Given the description of an element on the screen output the (x, y) to click on. 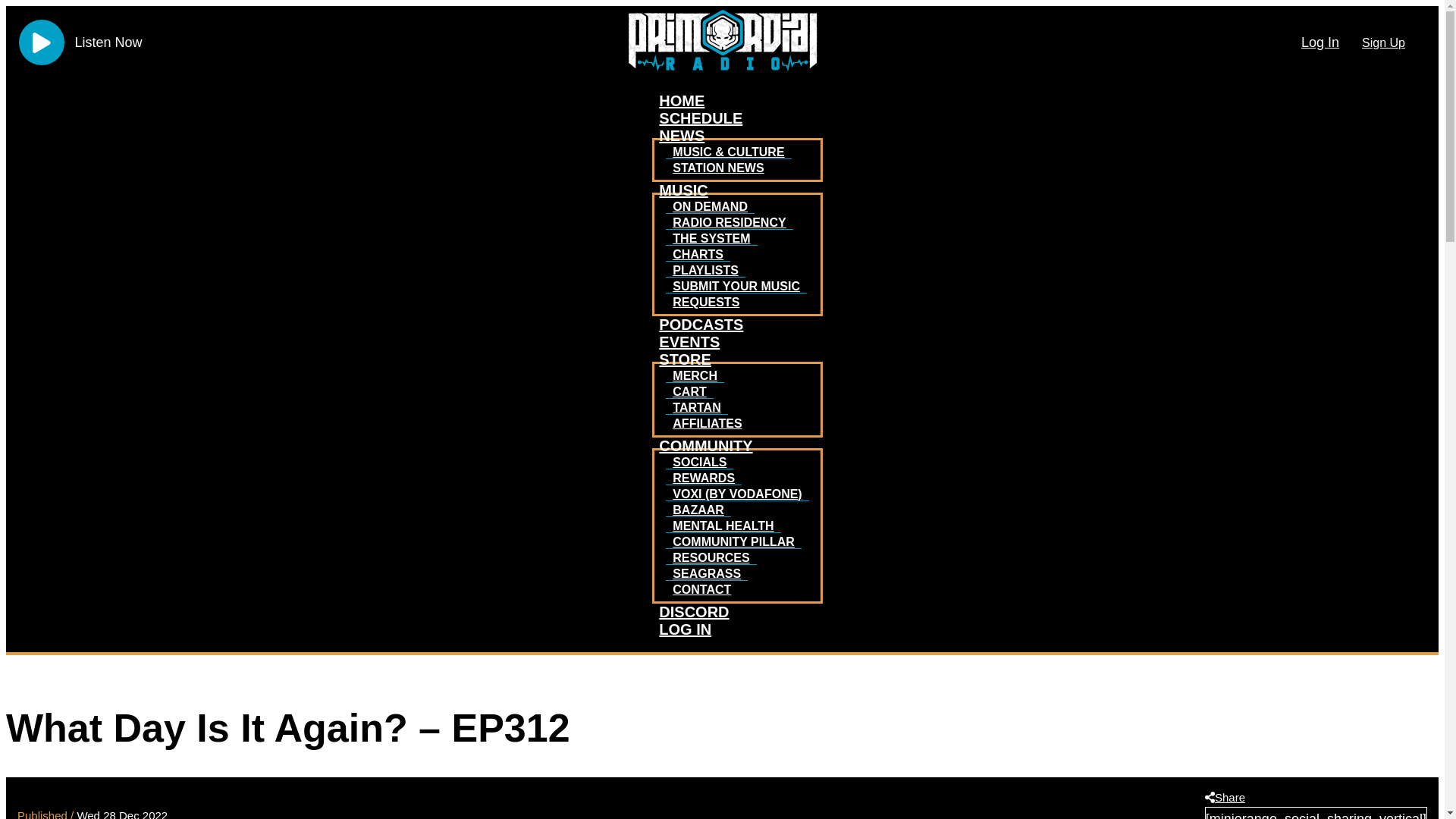
Log In (1320, 42)
Sign Up (1382, 42)
HOME (681, 100)
